Given the description of an element on the screen output the (x, y) to click on. 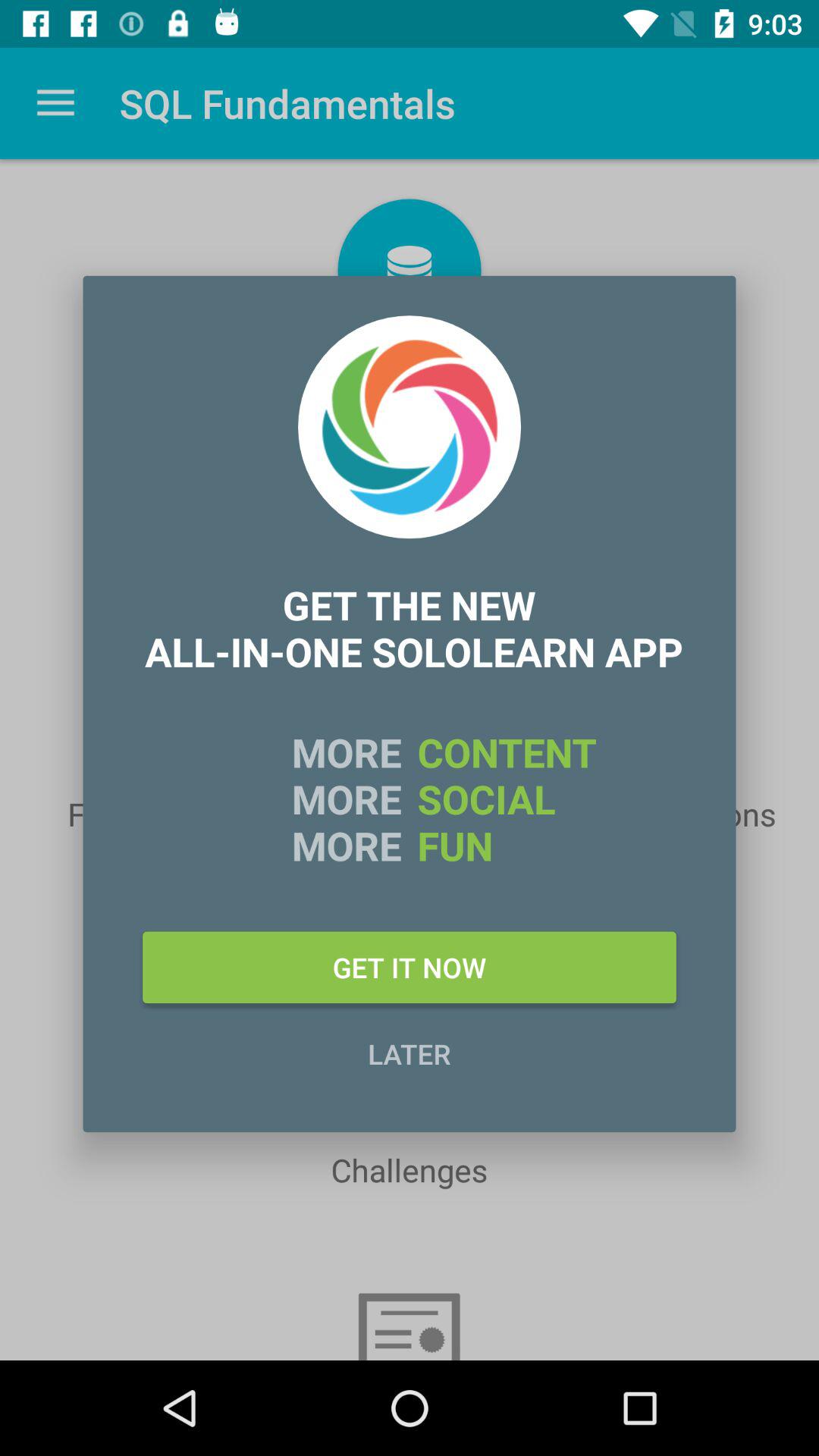
jump until later (409, 1053)
